Given the description of an element on the screen output the (x, y) to click on. 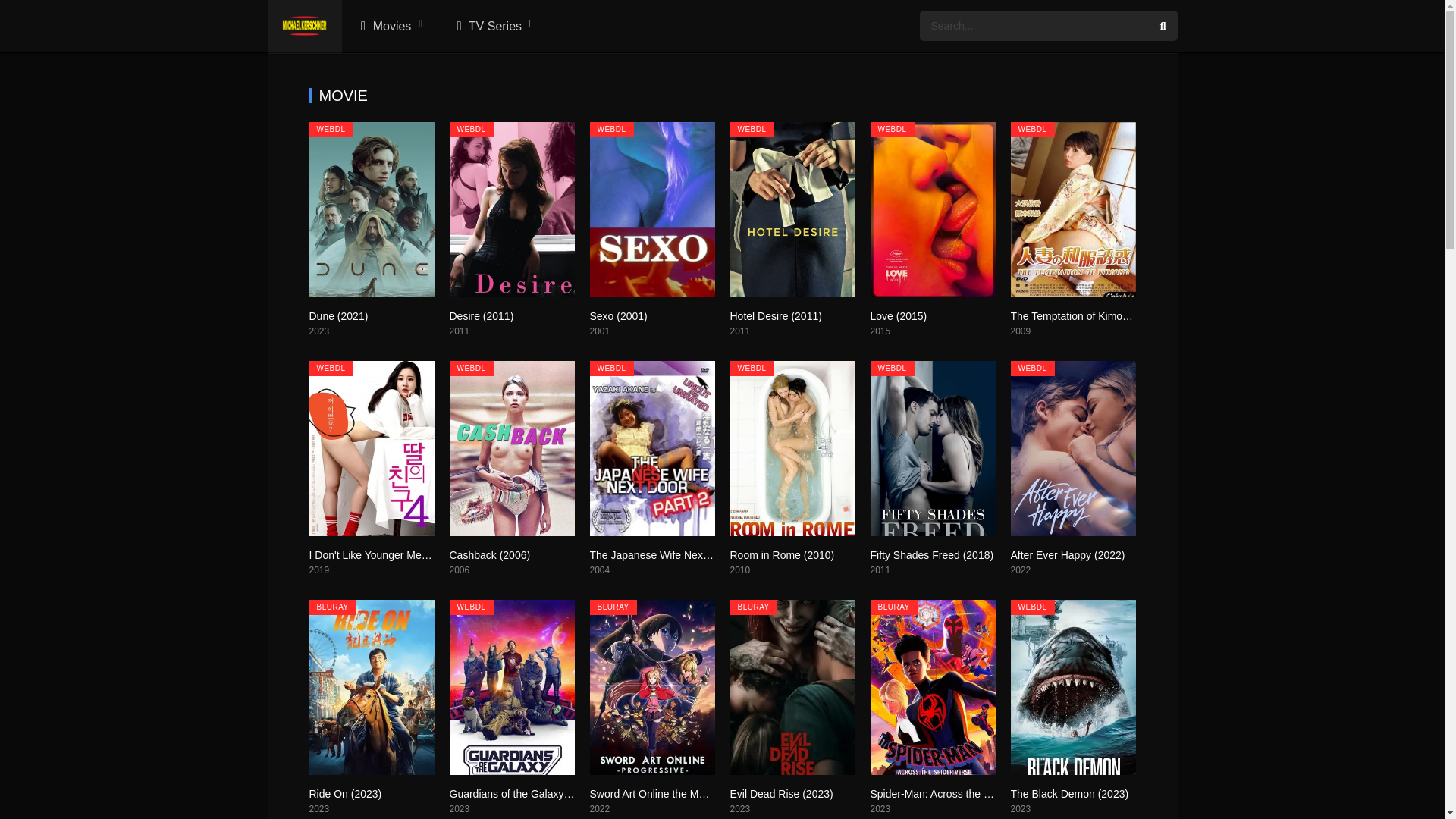
Movies (390, 26)
TV Series (493, 26)
